Given the description of an element on the screen output the (x, y) to click on. 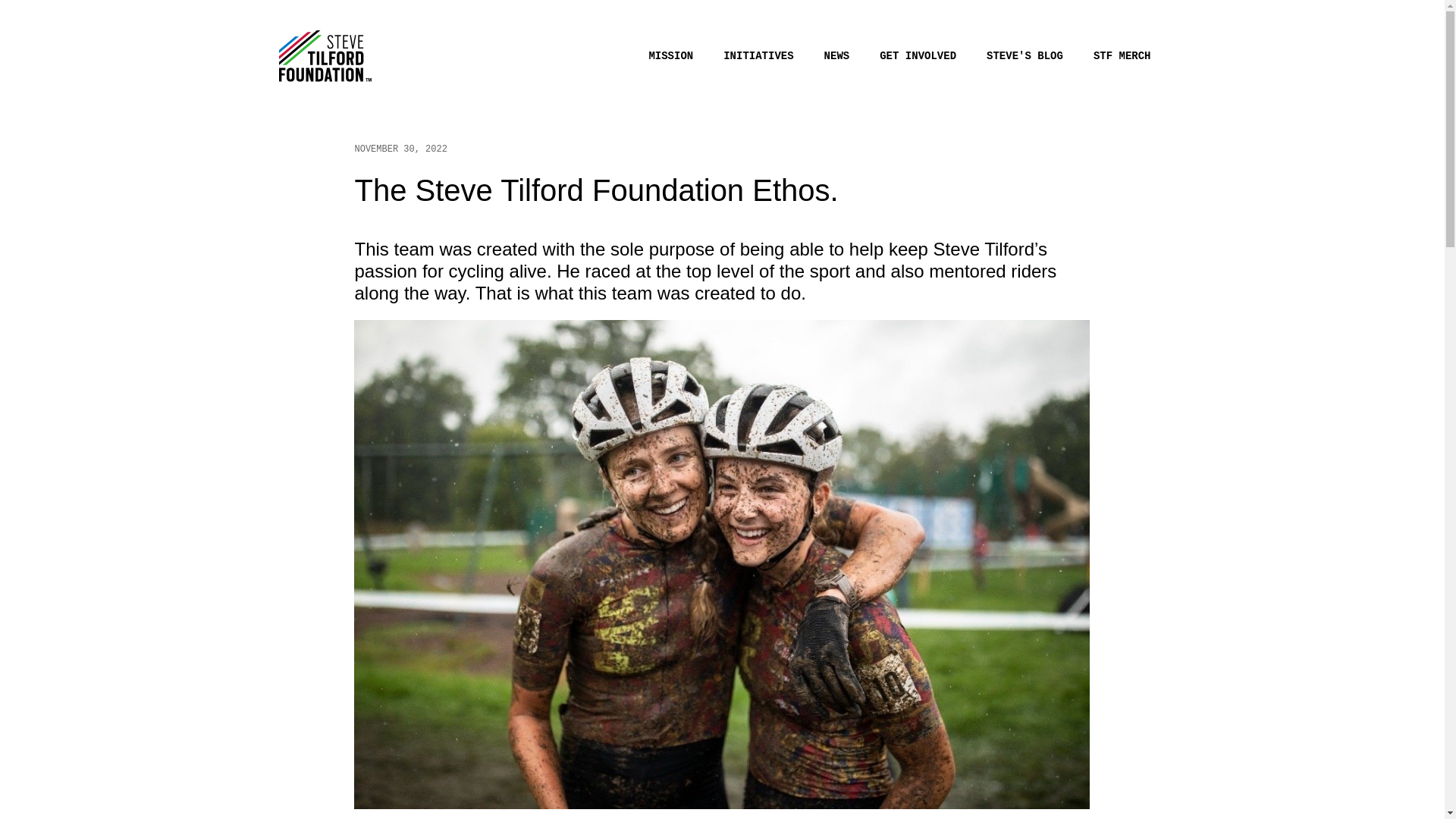
GET INVOLVED (917, 56)
MISSION (670, 56)
STEVE'S BLOG (1024, 56)
STF Merch (1122, 56)
INITIATIVES (757, 56)
News (836, 56)
Mission (670, 56)
Steve's Blog (1024, 56)
NEWS (836, 56)
Get Involved (917, 56)
